Given the description of an element on the screen output the (x, y) to click on. 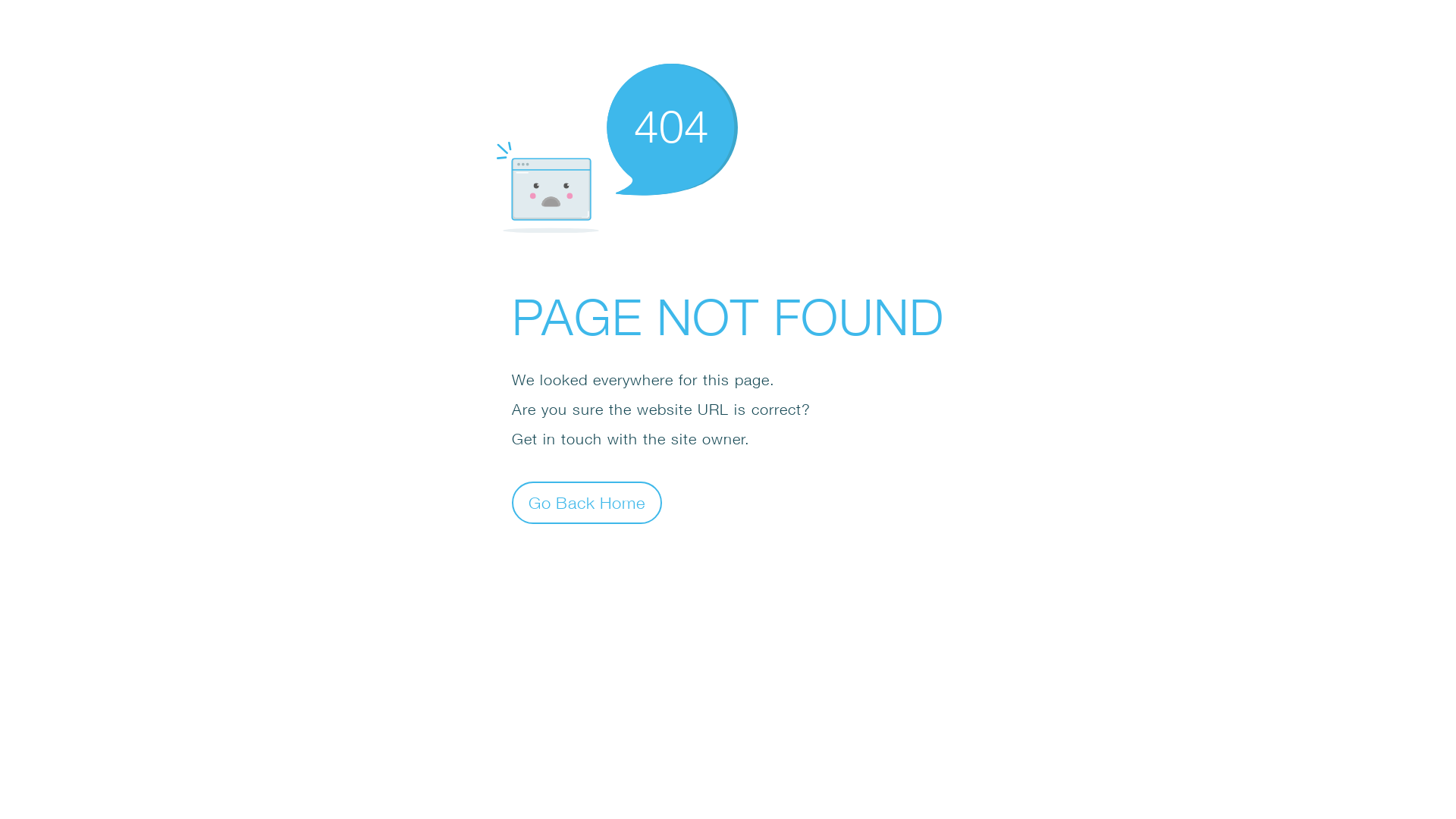
Go Back Home Element type: text (586, 502)
